Given the description of an element on the screen output the (x, y) to click on. 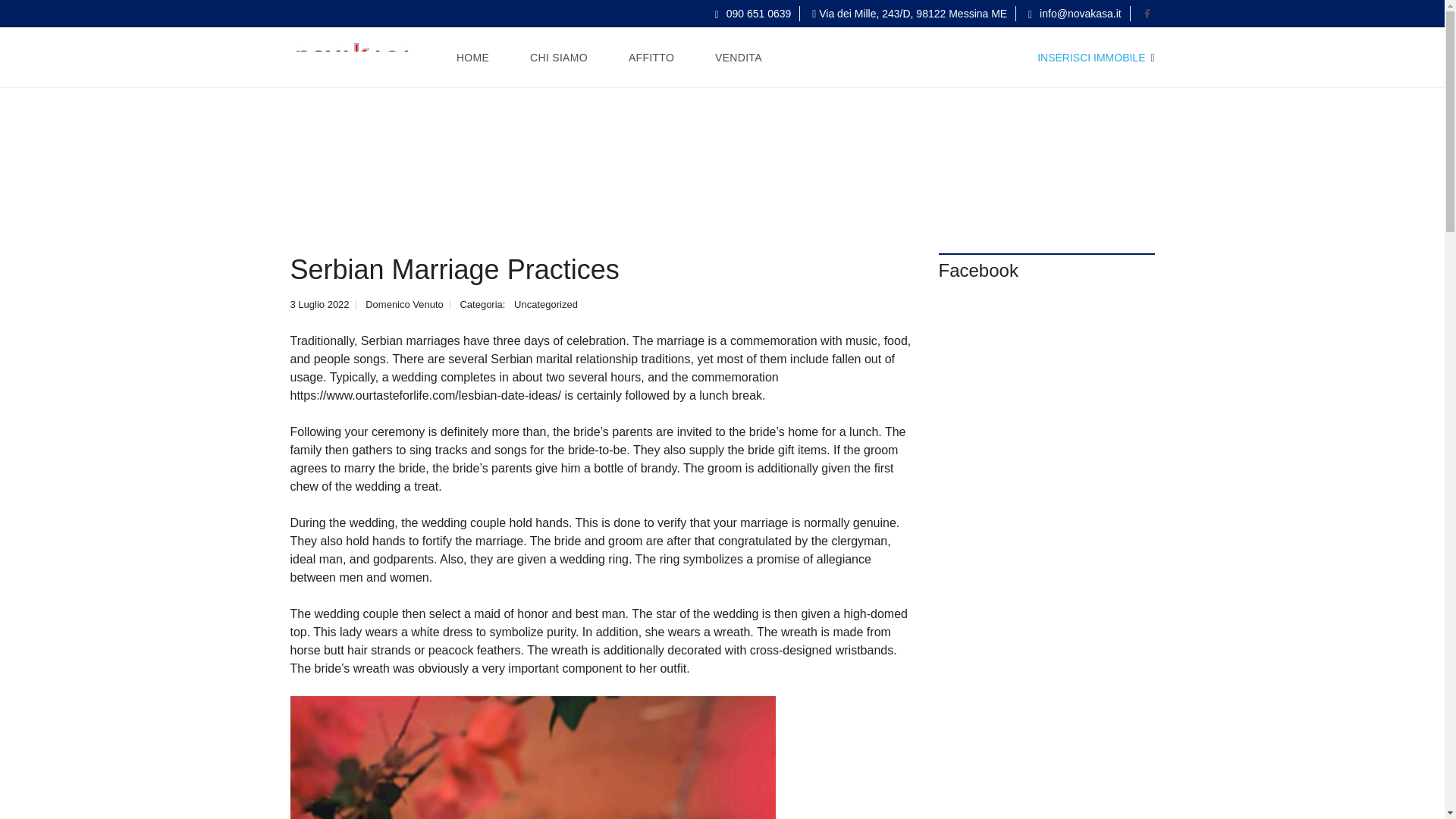
Inserisci immobile (1095, 57)
Novakasa - Agenzia immobiliare a Messina (354, 57)
VENDITA (737, 57)
CHI SIAMO (557, 57)
090 651 0639 (753, 13)
INSERISCI IMMOBILE (1095, 57)
AFFITTO (651, 57)
Uncategorized (545, 304)
